Given the description of an element on the screen output the (x, y) to click on. 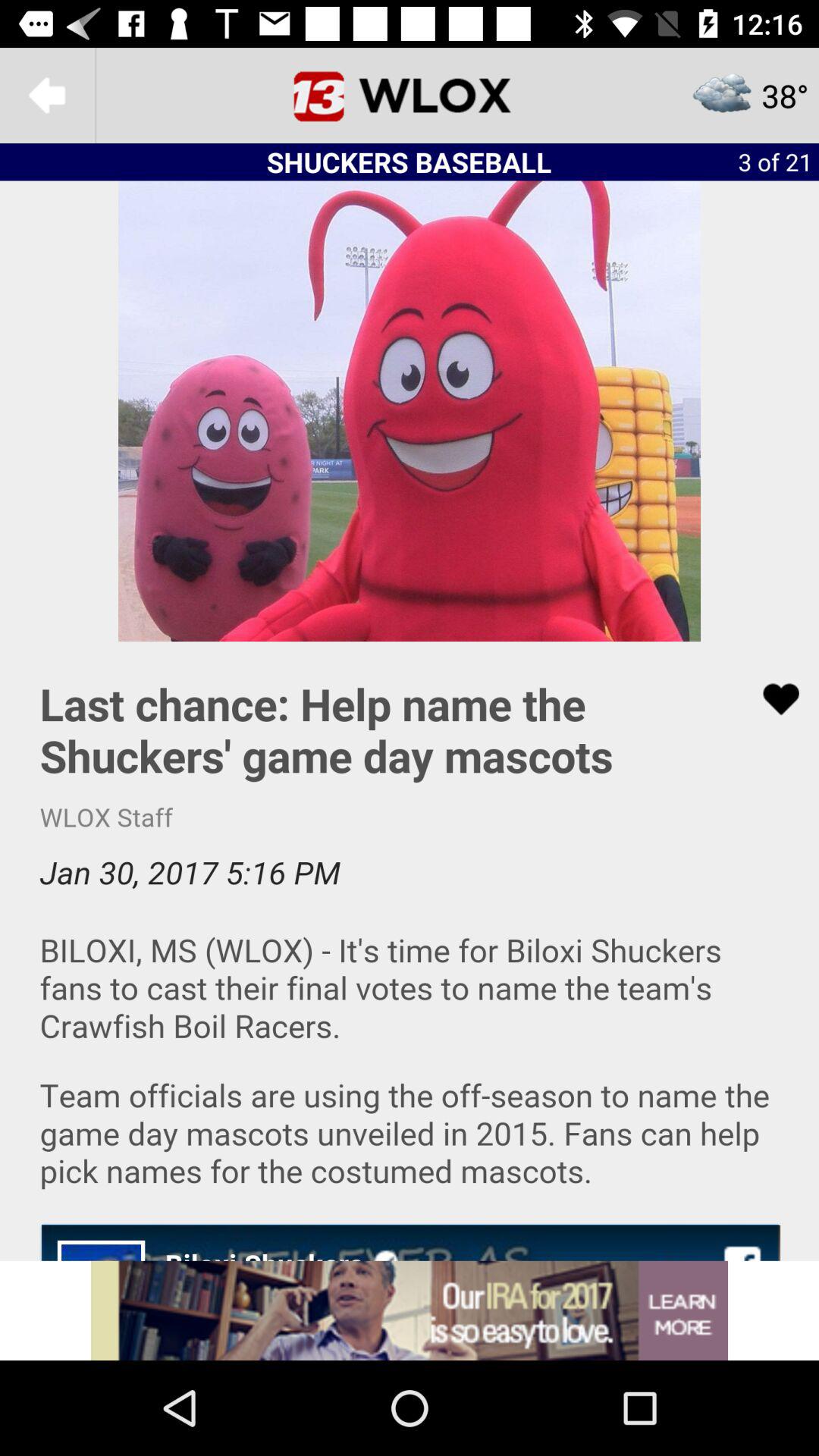
open advertisement (409, 1310)
